Given the description of an element on the screen output the (x, y) to click on. 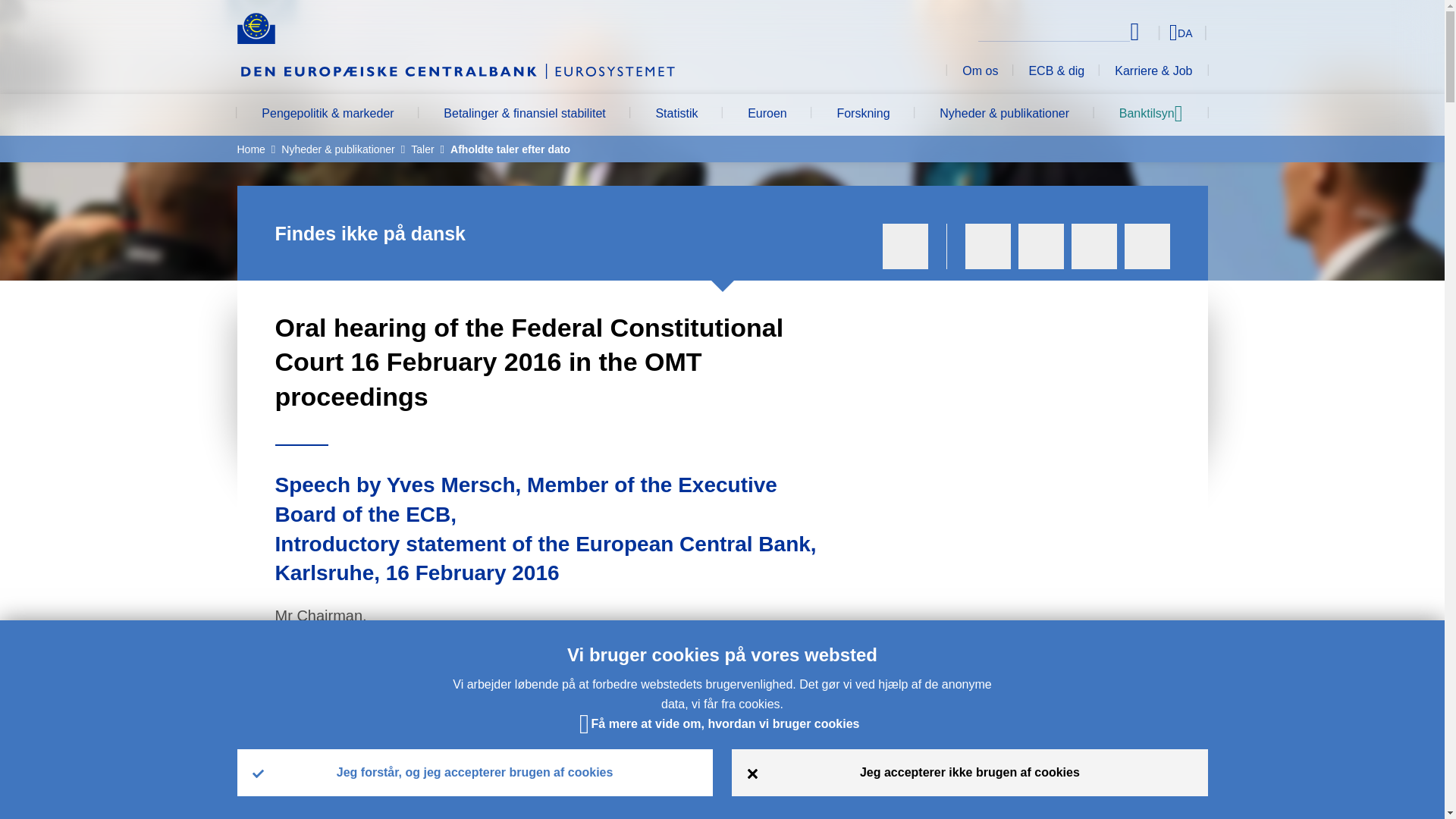
Select language (1153, 32)
